Given the description of an element on the screen output the (x, y) to click on. 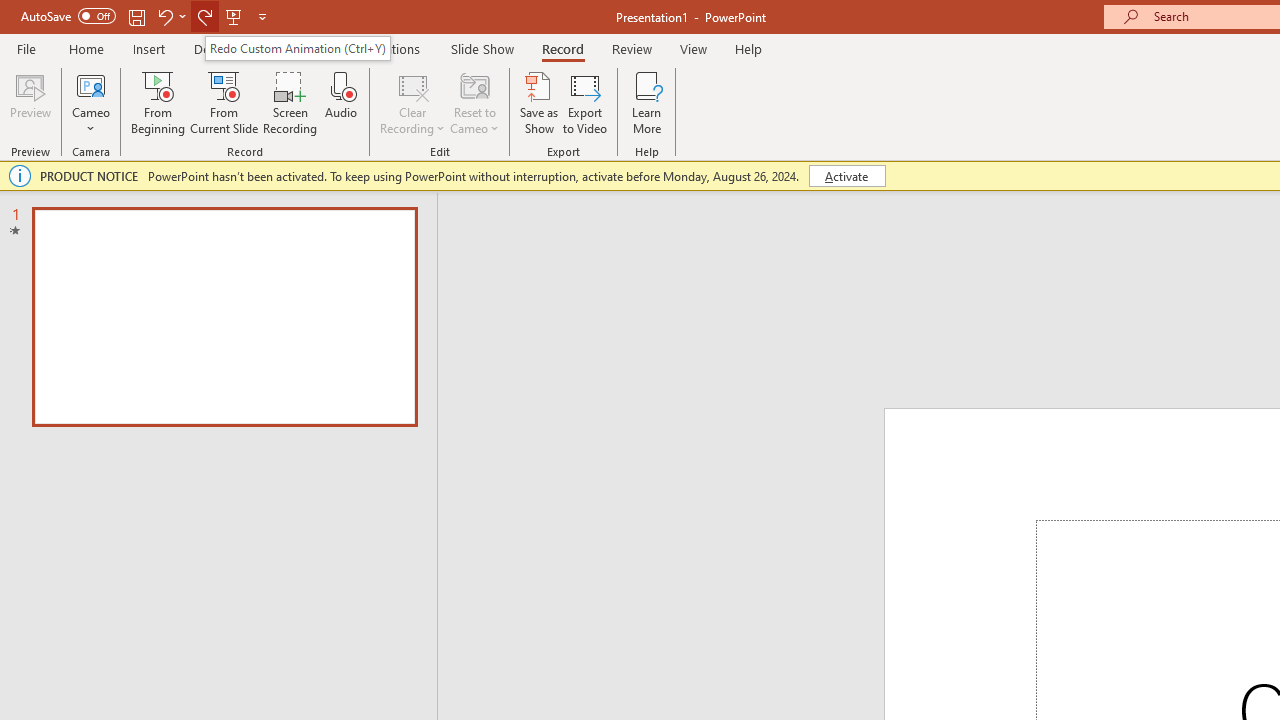
From Current Slide... (224, 102)
